Given the description of an element on the screen output the (x, y) to click on. 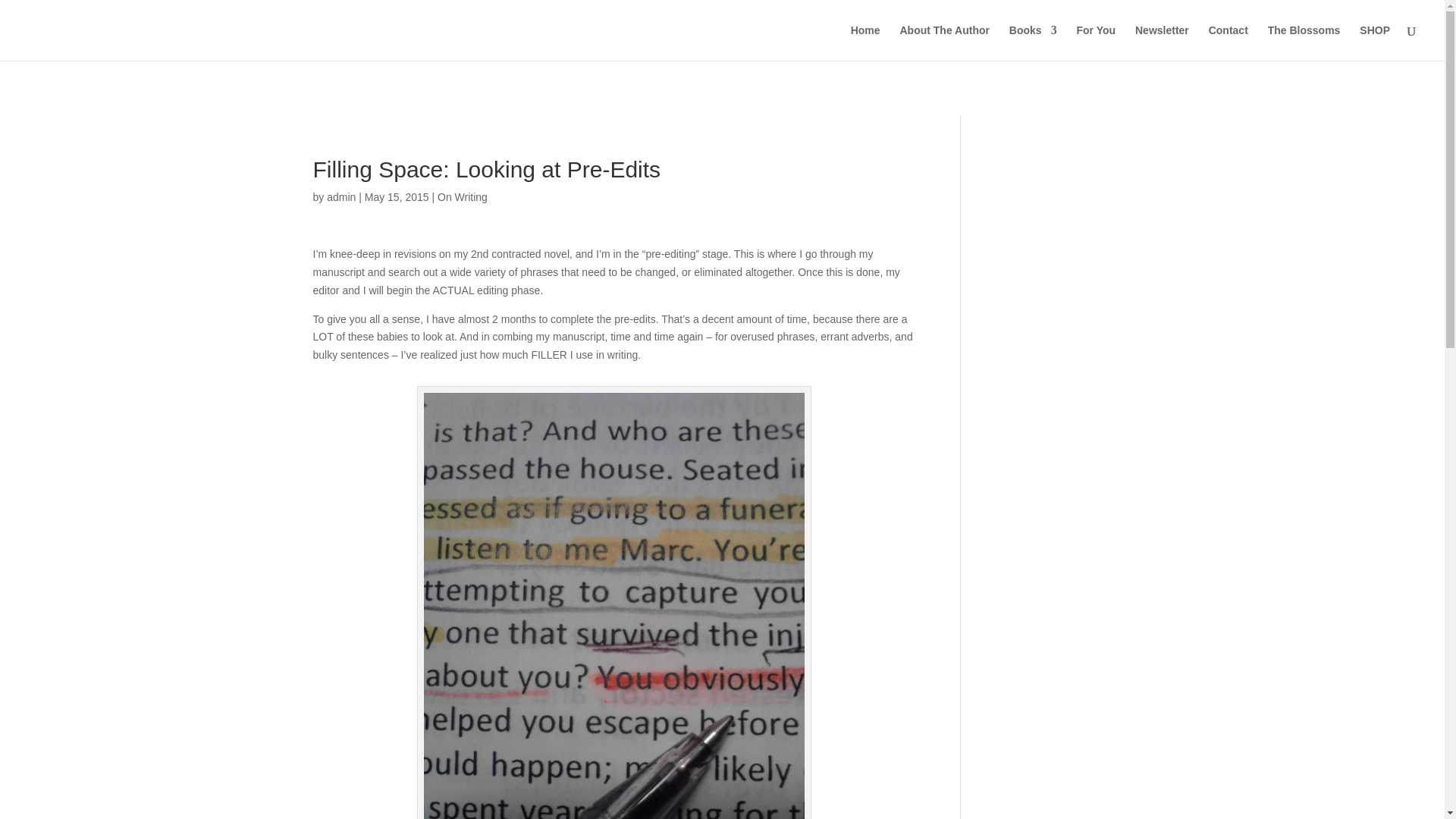
About The Author (943, 42)
admin (340, 196)
Books (1033, 42)
Posts by admin (340, 196)
On Writing (462, 196)
Newsletter (1162, 42)
The Blossoms (1304, 42)
Contact (1227, 42)
For You (1096, 42)
